Given the description of an element on the screen output the (x, y) to click on. 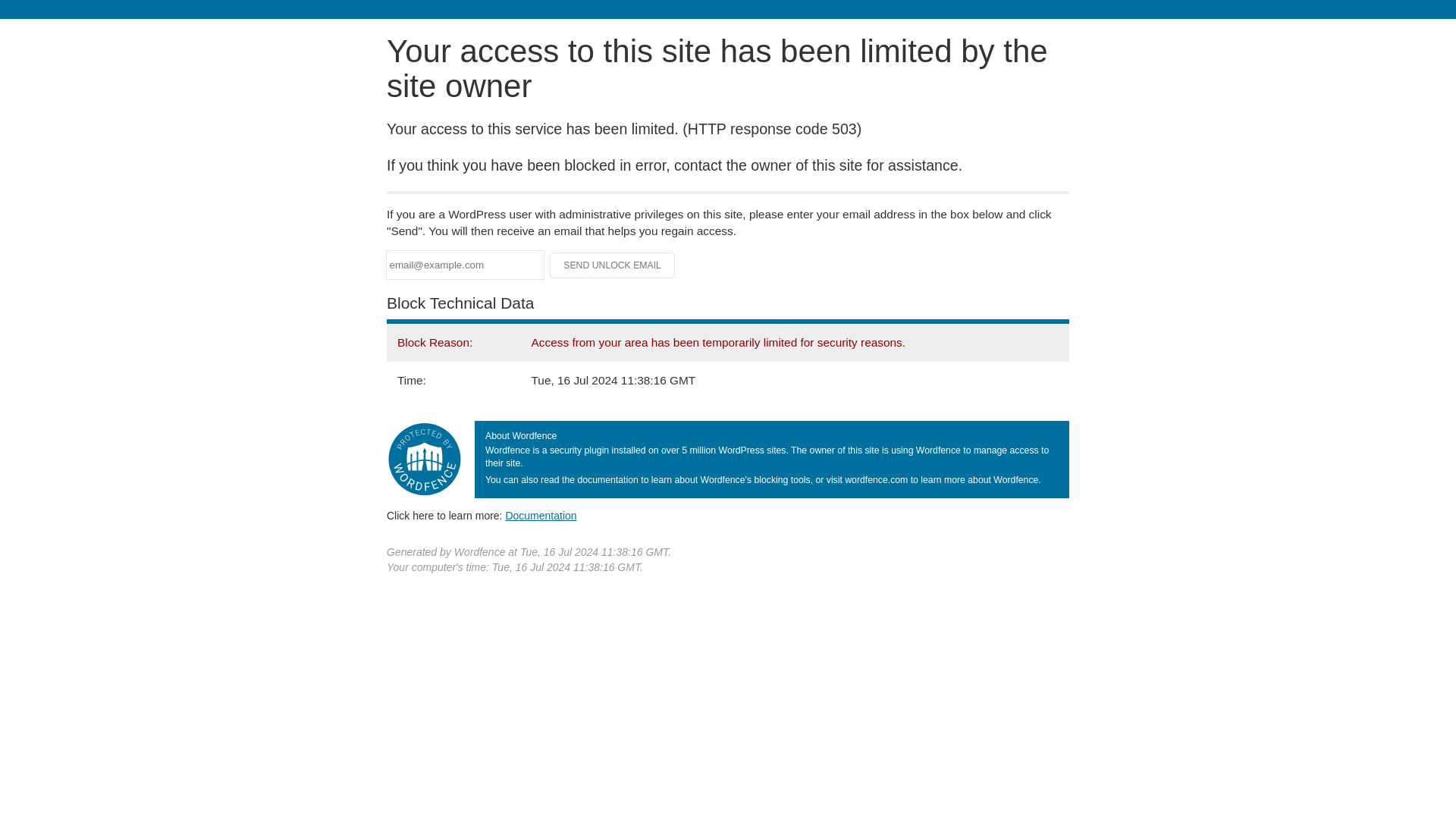
Send Unlock Email (612, 265)
Send Unlock Email (612, 265)
Documentation (540, 515)
